Given the description of an element on the screen output the (x, y) to click on. 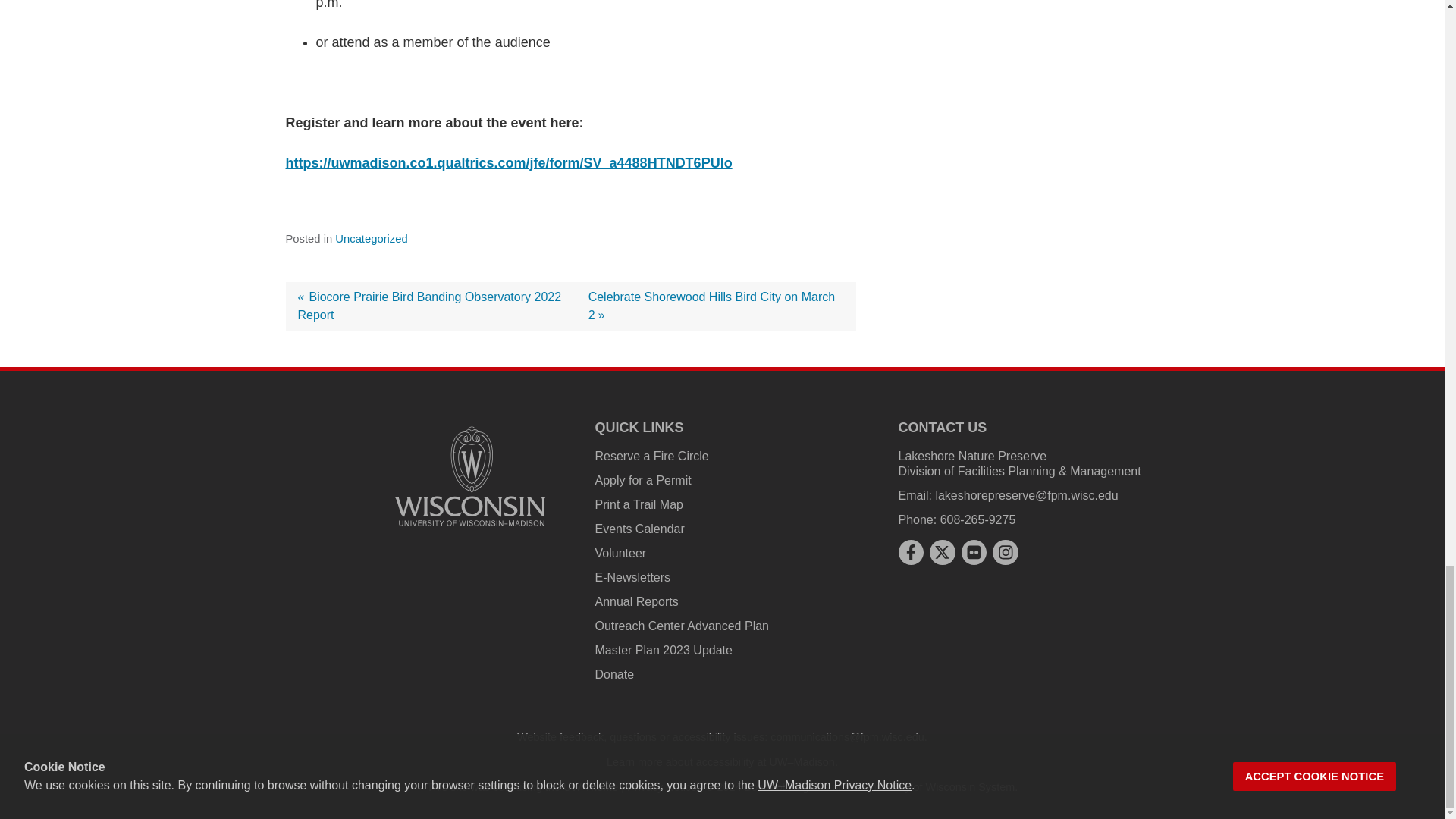
x twitter (941, 552)
instagram (1005, 552)
facebook (910, 552)
flickr (973, 552)
University logo that links to main university website (470, 476)
